Given the description of an element on the screen output the (x, y) to click on. 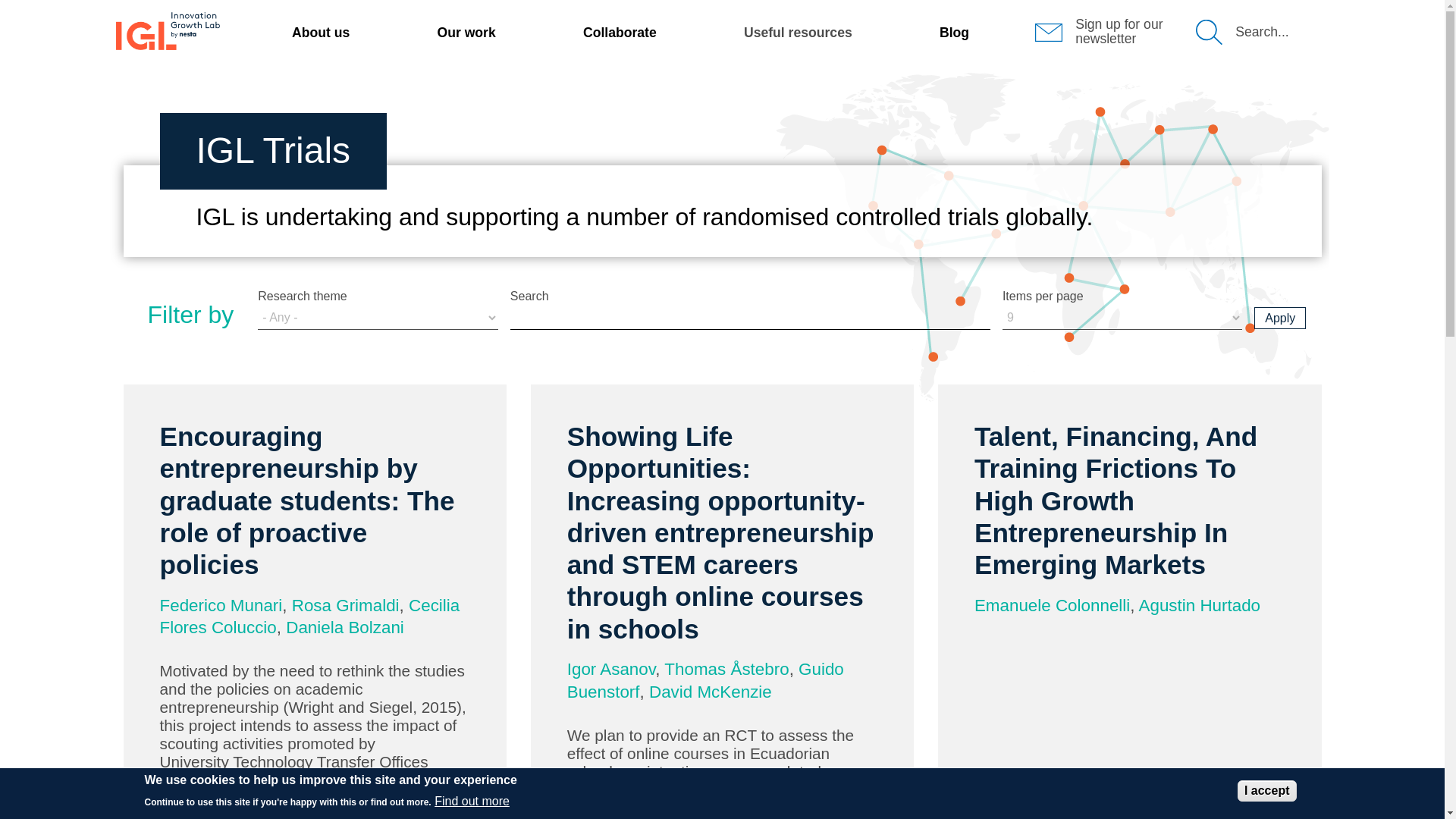
Rosa Grimaldi (345, 605)
Enter the terms you wish to search for. (750, 317)
About us (320, 32)
Collaborate (619, 32)
Useful resources (797, 32)
Home (167, 30)
Federico Munari (220, 605)
Apply (1279, 318)
Daniela Bolzani (344, 627)
Igor Asanov (611, 669)
Our work (465, 32)
Apply (1279, 318)
Search... (1261, 31)
Guido Buenstorf (705, 680)
